Given the description of an element on the screen output the (x, y) to click on. 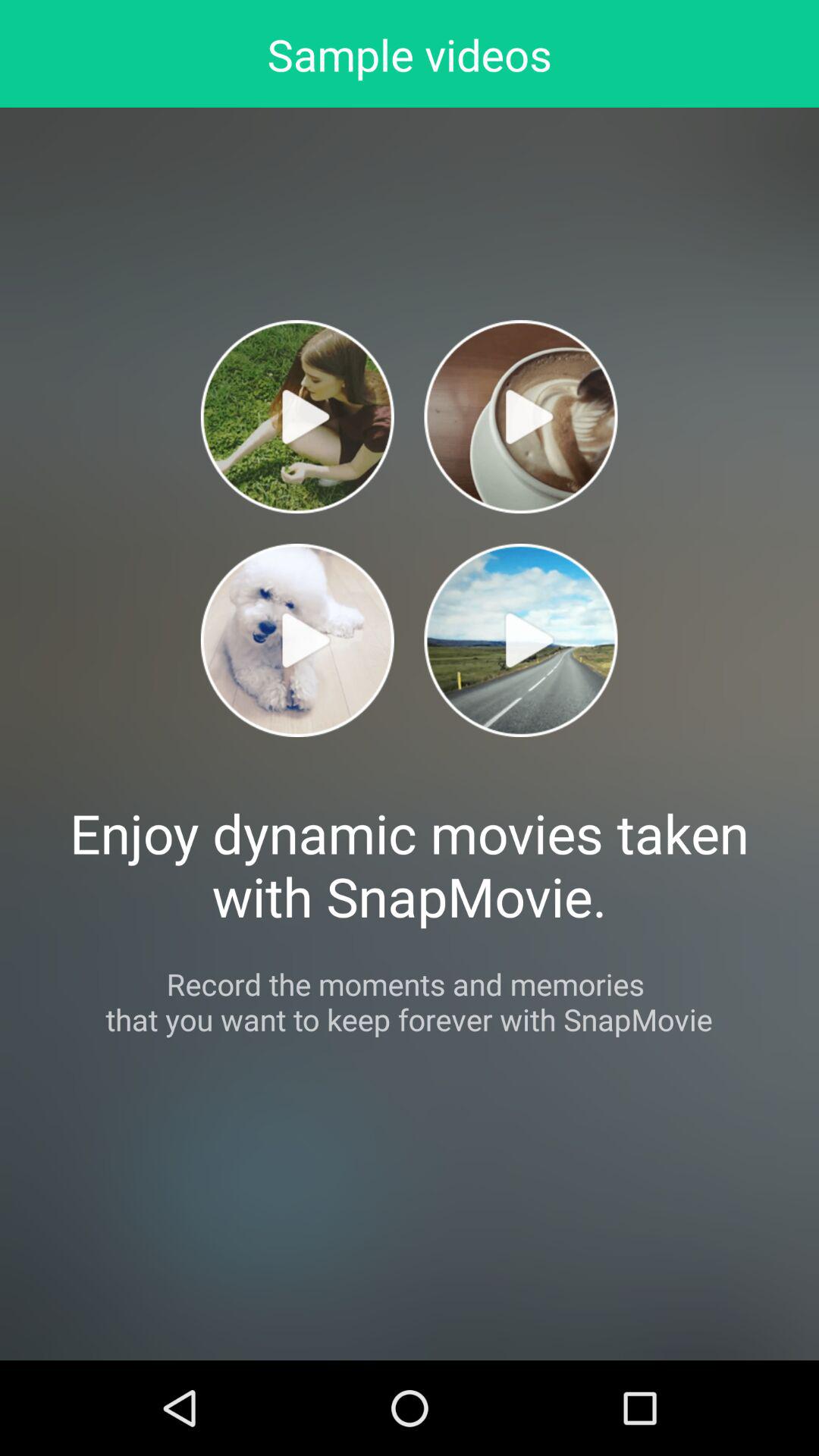
play video (520, 640)
